Given the description of an element on the screen output the (x, y) to click on. 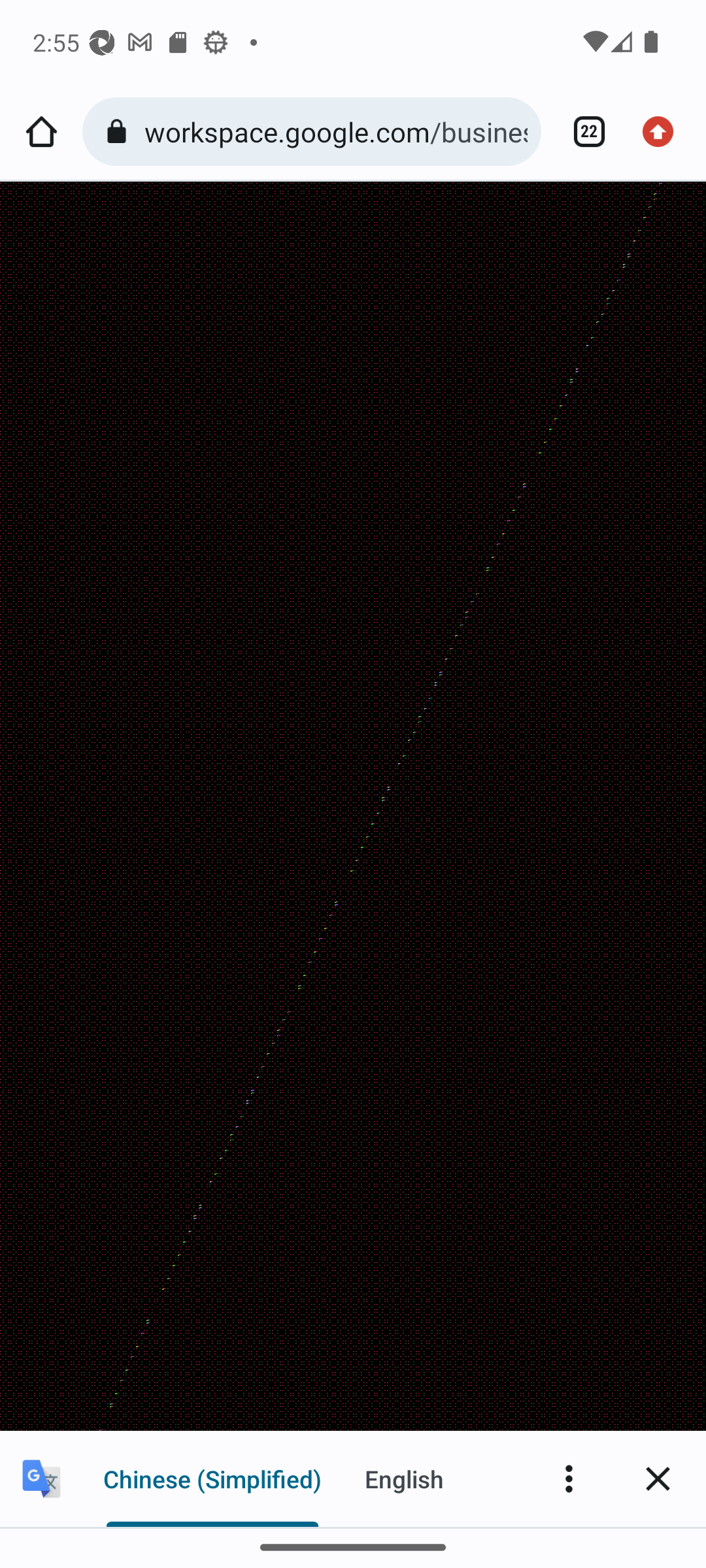
Home (41, 131)
Connection is secure (120, 131)
Switch or close tabs (582, 131)
Update available. More options (664, 131)
English (403, 1478)
More options (568, 1478)
Close (657, 1478)
